Given the description of an element on the screen output the (x, y) to click on. 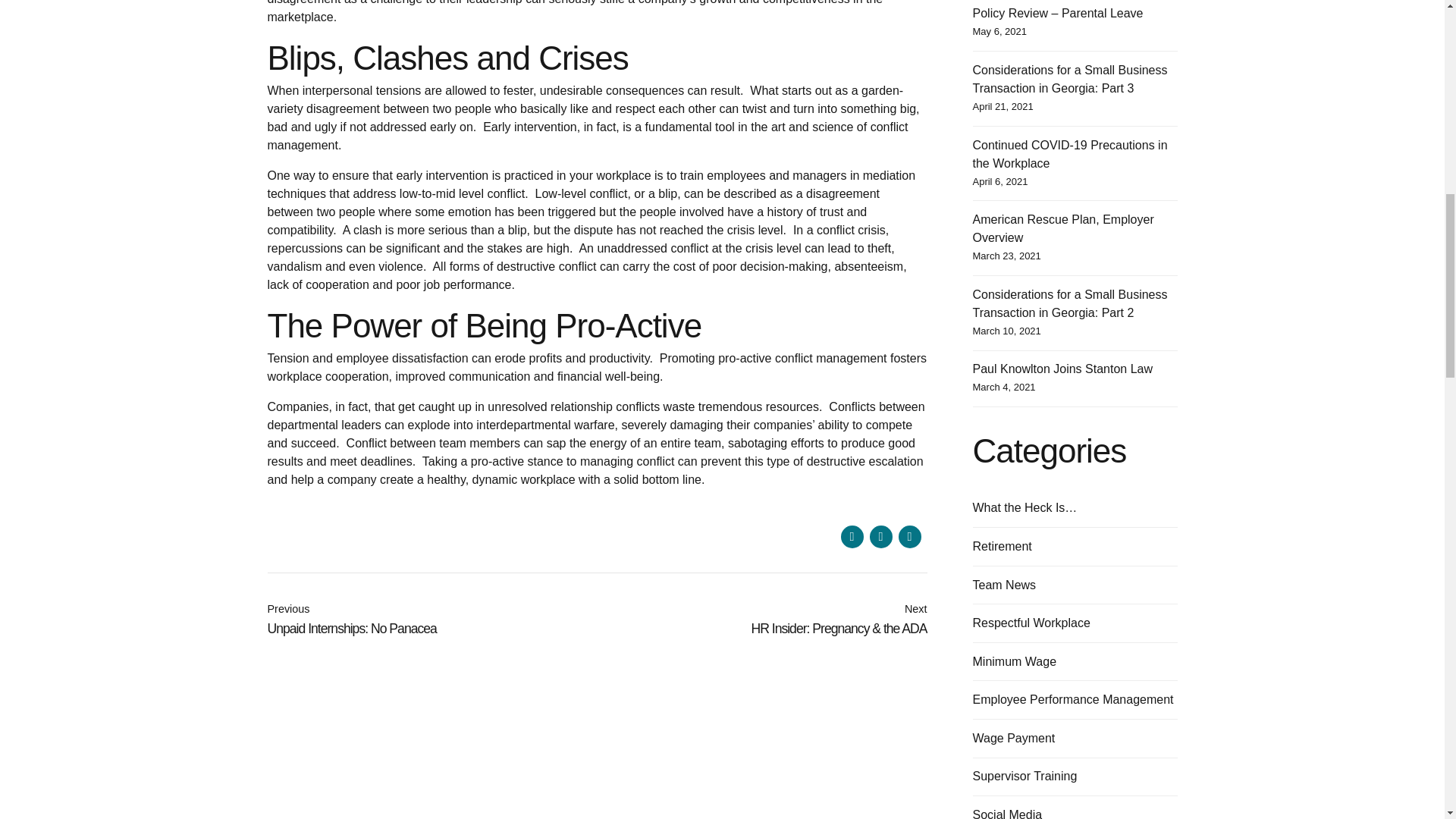
Share on Linkedin (909, 536)
Share on Twitter (880, 536)
Share on Facebook (851, 536)
